Given the description of an element on the screen output the (x, y) to click on. 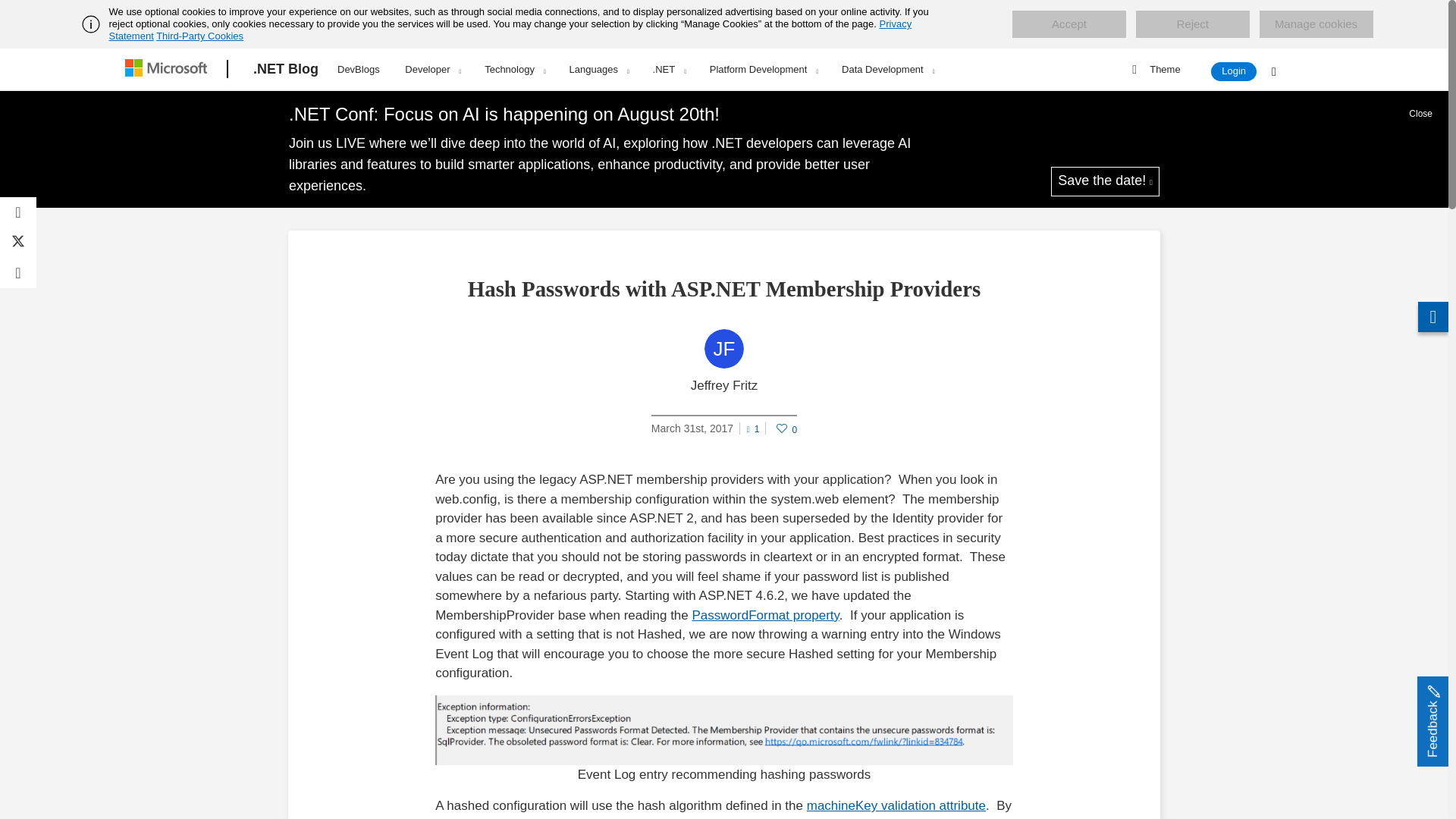
Developer (432, 69)
.NET Blog (286, 69)
Languages (599, 69)
Privacy Statement (510, 29)
Third-Party Cookies (199, 35)
Manage cookies (1316, 23)
Technology (514, 69)
Accept (1068, 23)
Reject (1192, 23)
DevBlogs (358, 67)
